Given the description of an element on the screen output the (x, y) to click on. 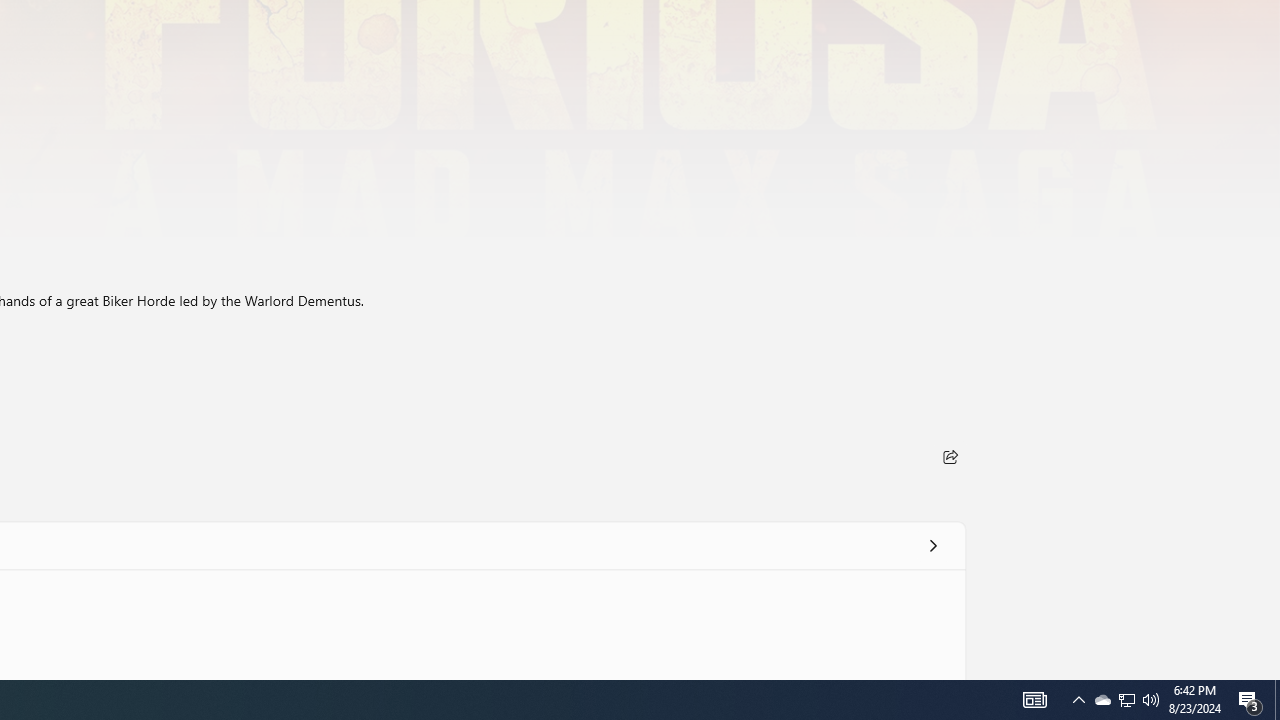
See all (932, 544)
Vertical Small Increase (1272, 672)
Share (950, 456)
